Given the description of an element on the screen output the (x, y) to click on. 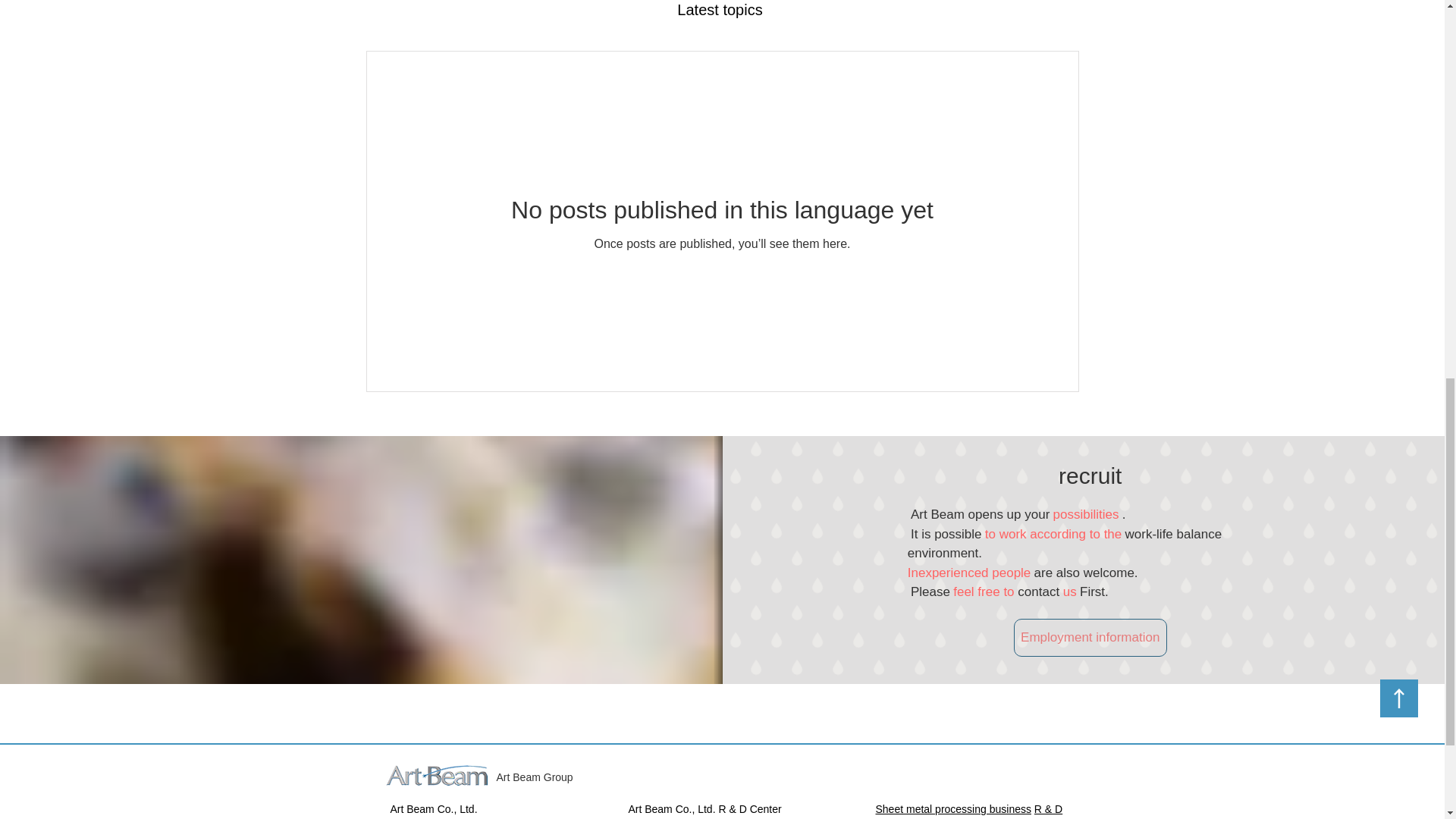
Employment information (1090, 637)
Sheet metal processing business (952, 808)
Art Beam Group (534, 776)
